Given the description of an element on the screen output the (x, y) to click on. 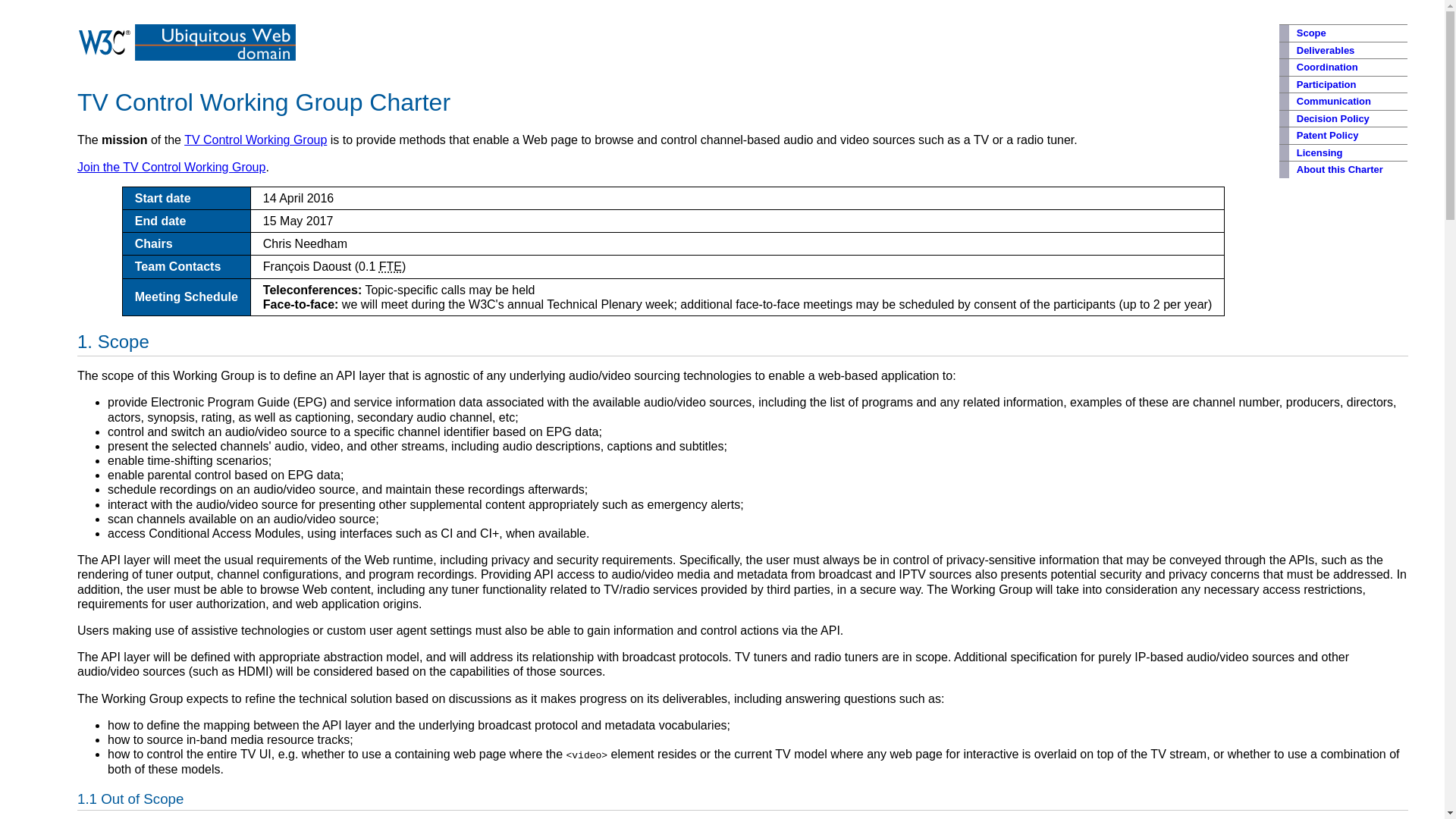
Full-Time Equivalent (389, 266)
TV Control Working Group (255, 139)
domain:ubi (215, 56)
Join the TV Control Working Group (170, 166)
